Given the description of an element on the screen output the (x, y) to click on. 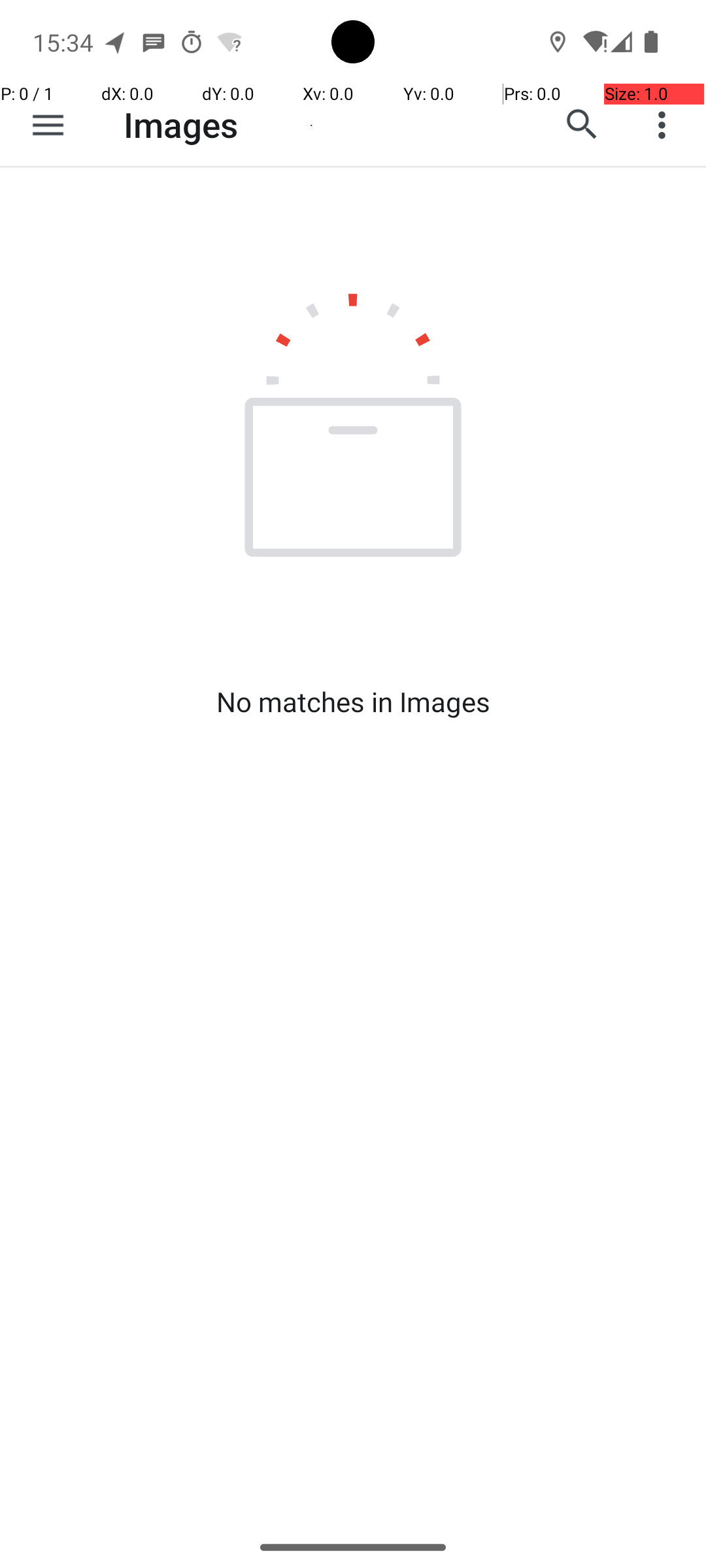
No matches in Images Element type: android.widget.TextView (352, 700)
